Given the description of an element on the screen output the (x, y) to click on. 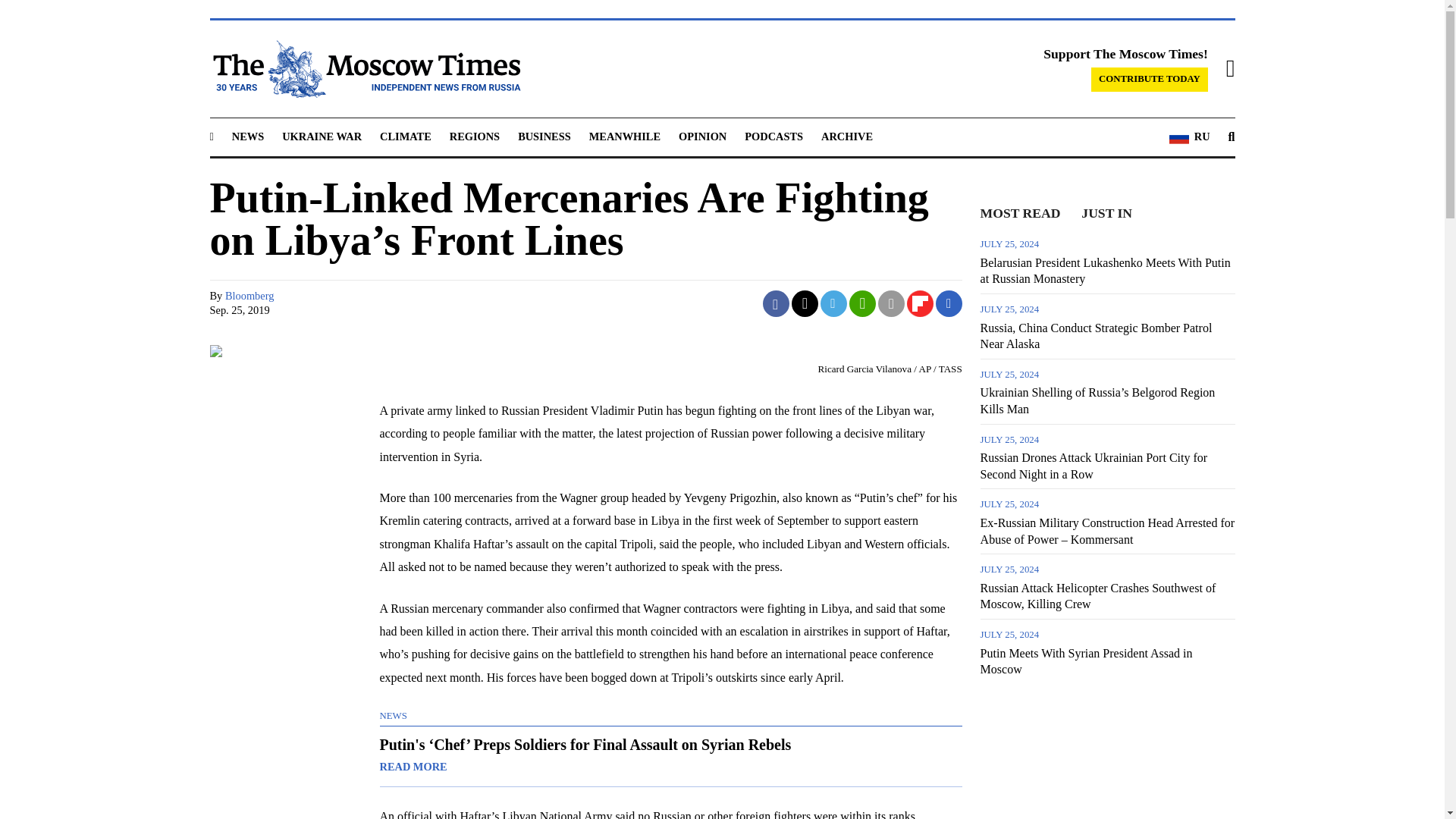
CLIMATE (405, 136)
CONTRIBUTE TODAY (1149, 79)
REGIONS (474, 136)
ARCHIVE (846, 136)
Bloomberg (250, 295)
UKRAINE WAR (321, 136)
BUSINESS (544, 136)
Share on Twitter (805, 303)
RU (1189, 137)
The Moscow Times - Independent News from Russia (364, 68)
Share on Flipboard (920, 303)
Share on Facebook (775, 303)
NEWS (247, 136)
Share on Telegram (834, 303)
OPINION (702, 136)
